Given the description of an element on the screen output the (x, y) to click on. 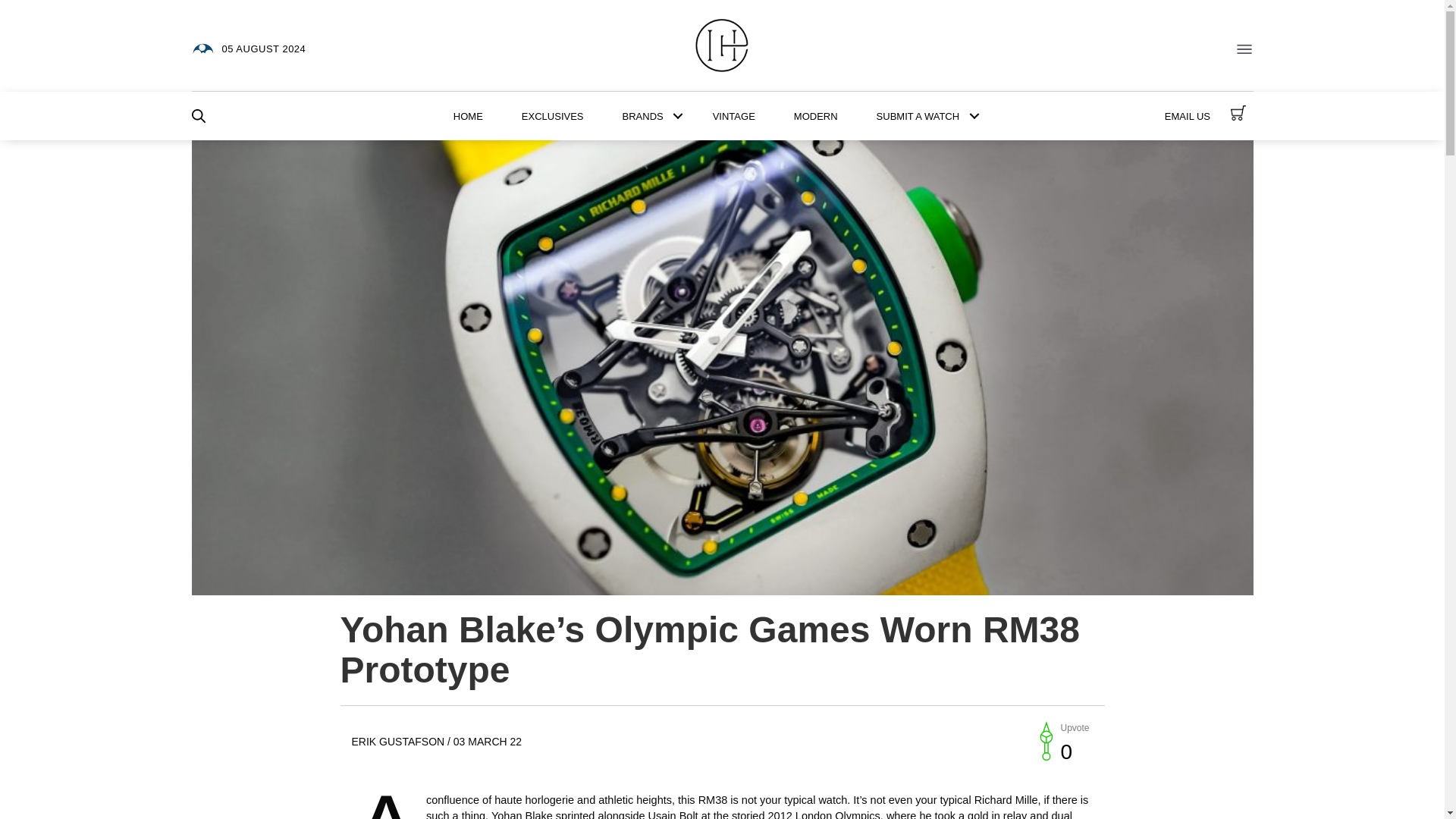
search (197, 115)
cart (1238, 112)
hairspring-logo (721, 45)
